Given the description of an element on the screen output the (x, y) to click on. 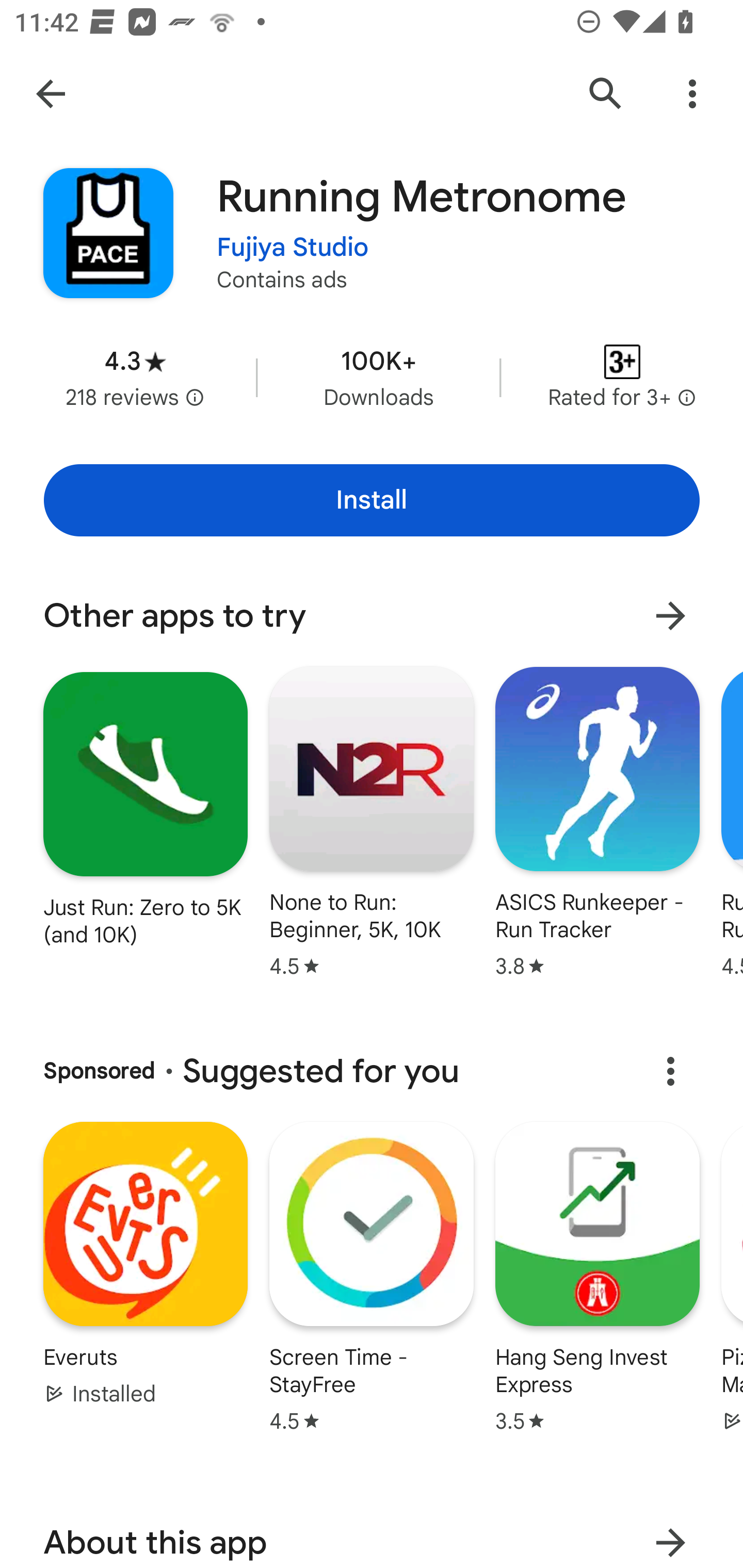
Navigate up (50, 93)
Search Google Play (605, 93)
More Options (692, 93)
Fujiya Studio (292, 247)
Average rating 4.3 stars in 218 reviews (135, 377)
Content rating Rated for 3+ (622, 377)
Install (371, 500)
More results for Other apps to try (670, 615)
Just Run: Zero to 5K (and 10K)
 (145, 808)
None to Run: Beginner, 5K, 10K
Star rating: 4.5
 (371, 821)
ASICS Runkeeper - Run Tracker
Star rating: 3.8
 (597, 821)
About this ad (670, 1071)
Everuts
Installed
 (145, 1295)
Screen Time - StayFree
Star rating: 4.5
 (371, 1295)
Hang Seng Invest Express
Star rating: 3.5
 (597, 1295)
About this app Learn more About this app (371, 1530)
Learn more About this app (670, 1533)
